Given the description of an element on the screen output the (x, y) to click on. 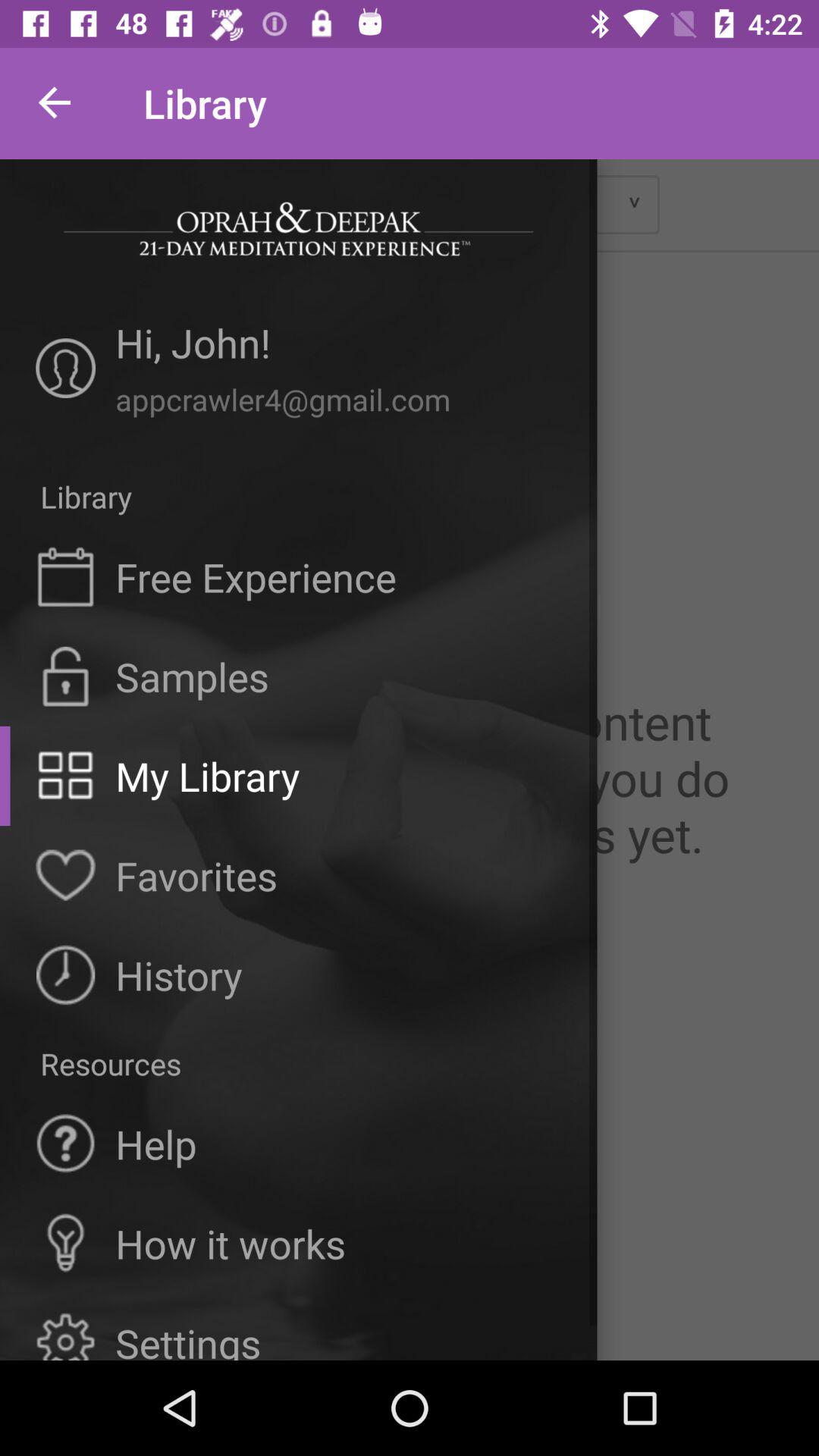
choose item next to hi, john! (65, 368)
